Given the description of an element on the screen output the (x, y) to click on. 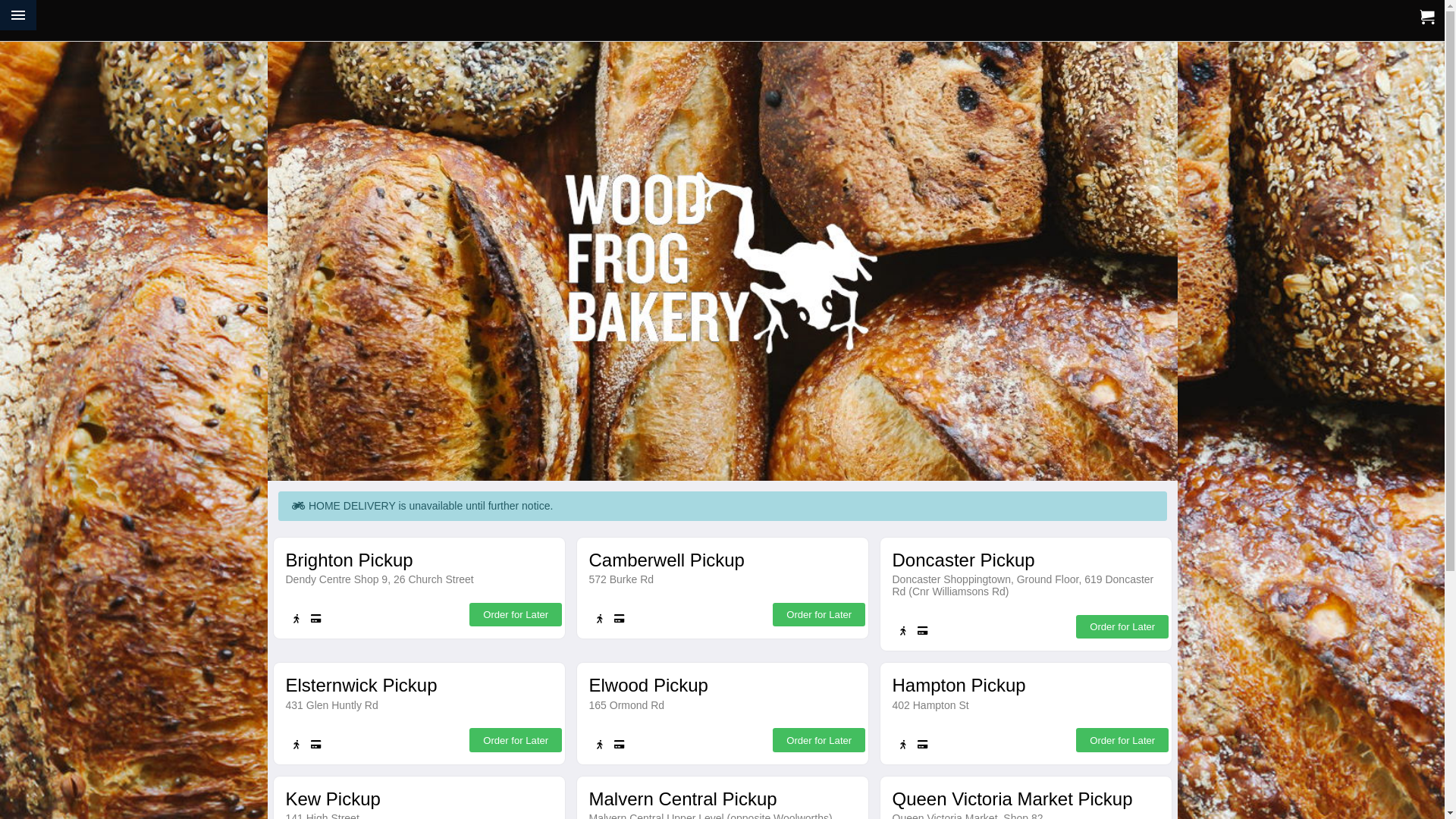
Order for Later Element type: text (515, 614)
Pickup Element type: hover (596, 744)
Order for Later Element type: text (515, 739)
Order for Later Element type: text (818, 739)
Pickup Element type: hover (293, 618)
Pickup Element type: hover (596, 618)
Order for Later Element type: text (818, 614)
Order for Later Element type: text (1122, 626)
Pickup Element type: hover (293, 744)
Pickup Element type: hover (899, 630)
Pickup Element type: hover (899, 744)
Order for Later Element type: text (1122, 739)
